Given the description of an element on the screen output the (x, y) to click on. 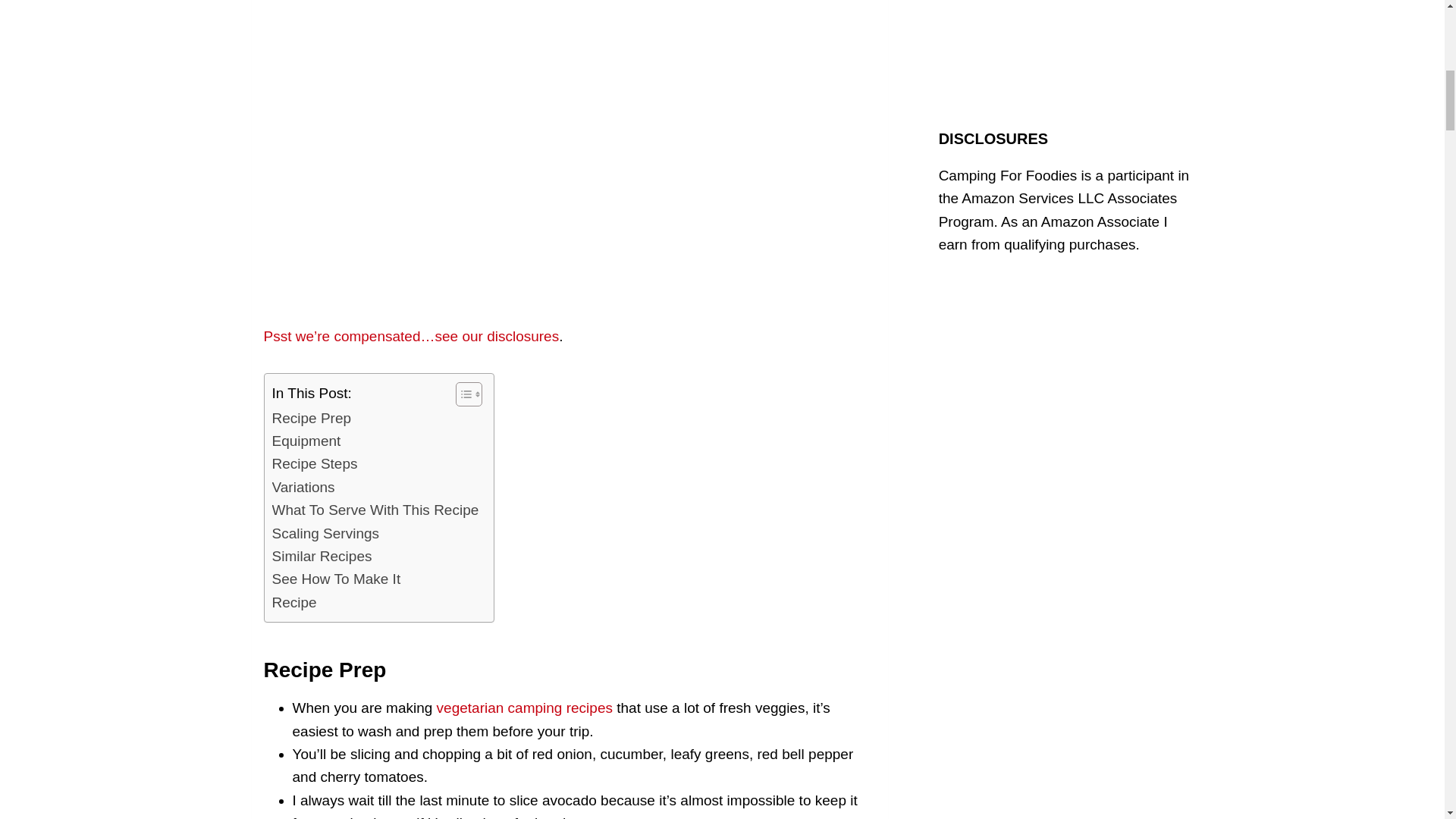
What To Serve With This Recipe (374, 509)
See How To Make It (335, 579)
Variations (302, 486)
Recipe Prep (310, 418)
Recipe Steps (313, 463)
Similar Recipes (320, 556)
Recipe (292, 602)
Scaling Servings (324, 533)
Equipment (305, 440)
